Given the description of an element on the screen output the (x, y) to click on. 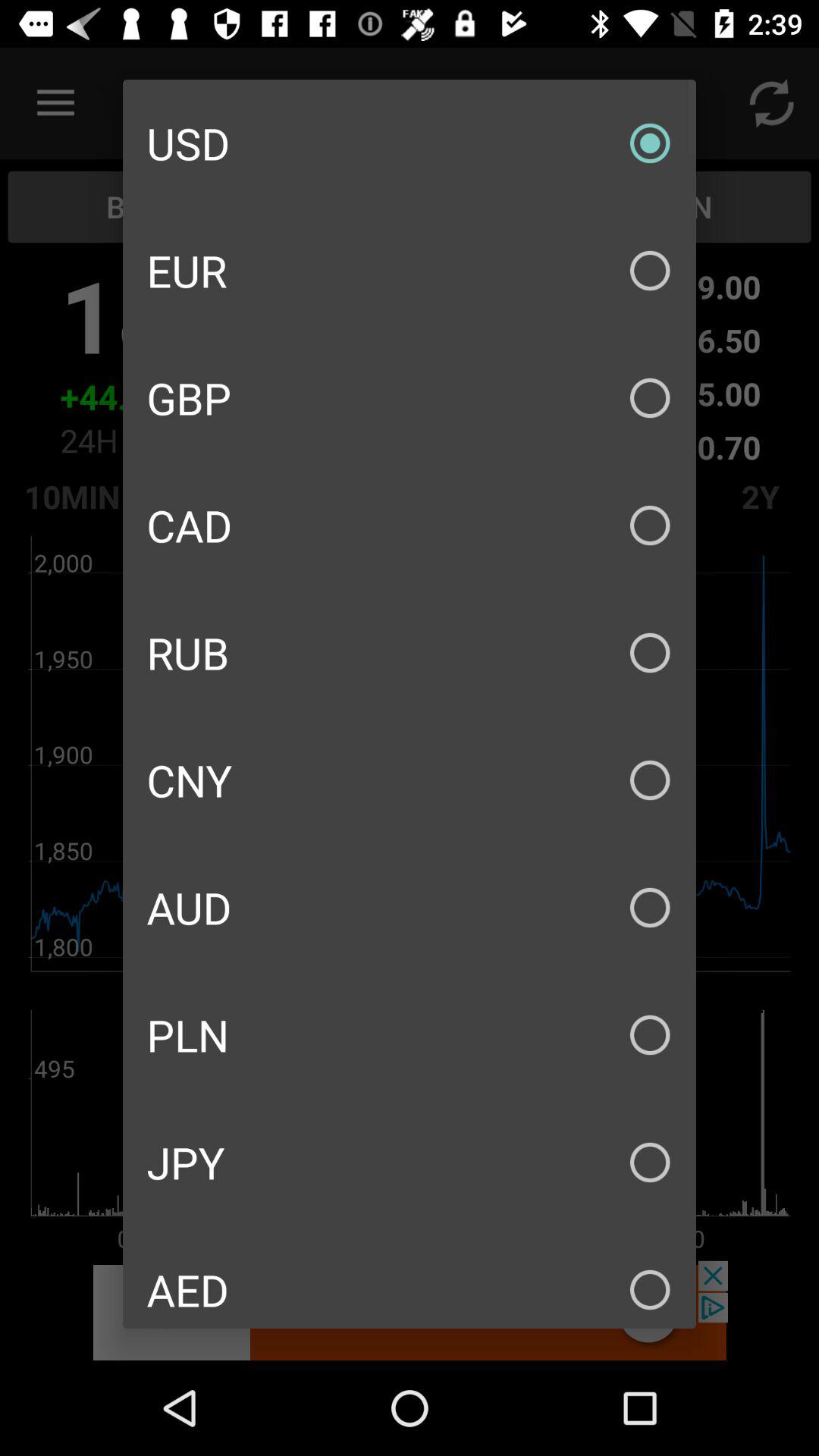
scroll to the rub icon (409, 652)
